Given the description of an element on the screen output the (x, y) to click on. 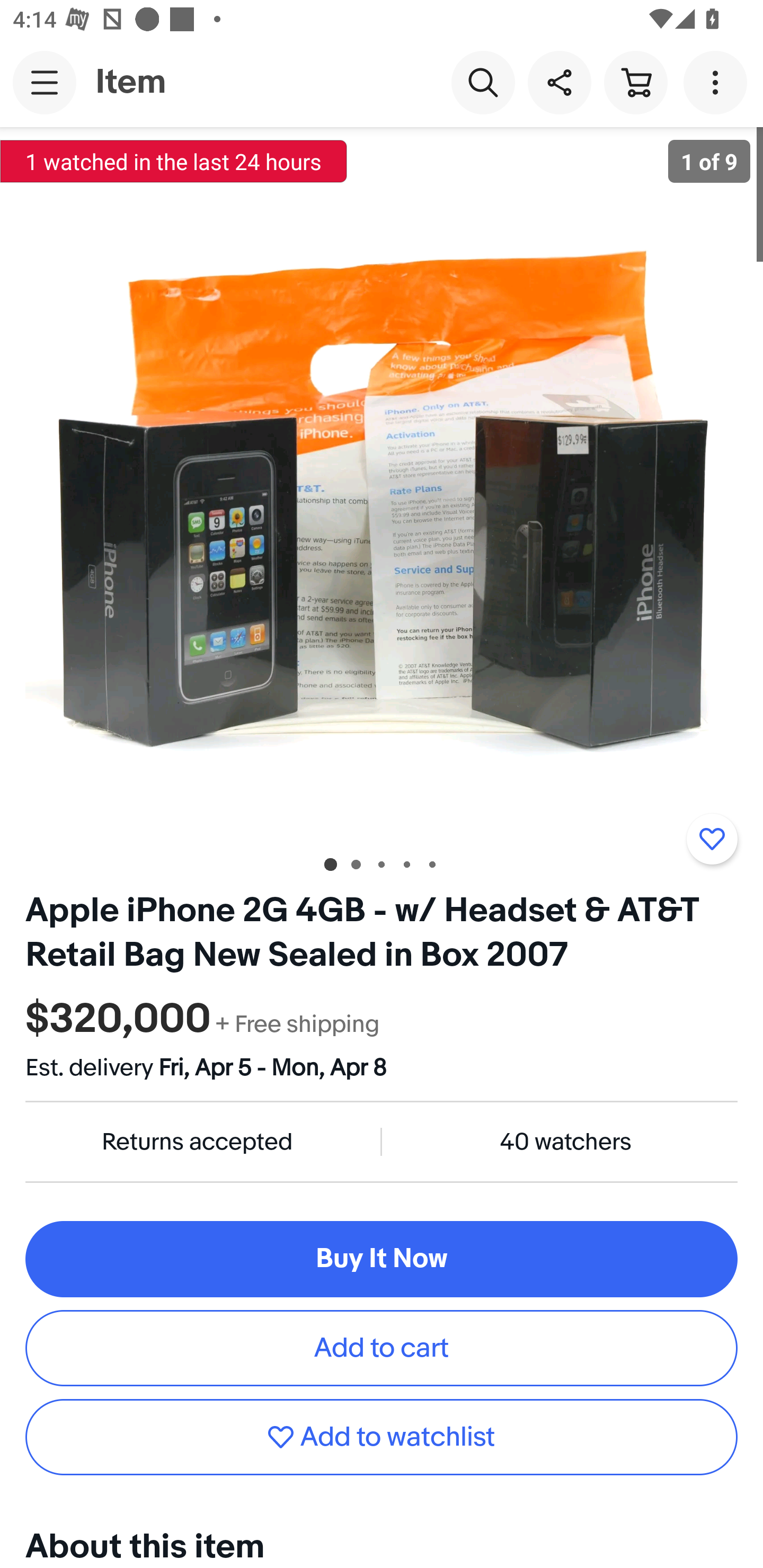
Main navigation, open (44, 82)
Search (482, 81)
Share this item (559, 81)
Cart button shopping cart (635, 81)
More options (718, 81)
Item image 1 of 9 (381, 482)
1 watched in the last 24 hours (173, 161)
Add to watchlist (711, 838)
Buy It Now (381, 1258)
Add to cart (381, 1347)
Add to watchlist (381, 1436)
